Given the description of an element on the screen output the (x, y) to click on. 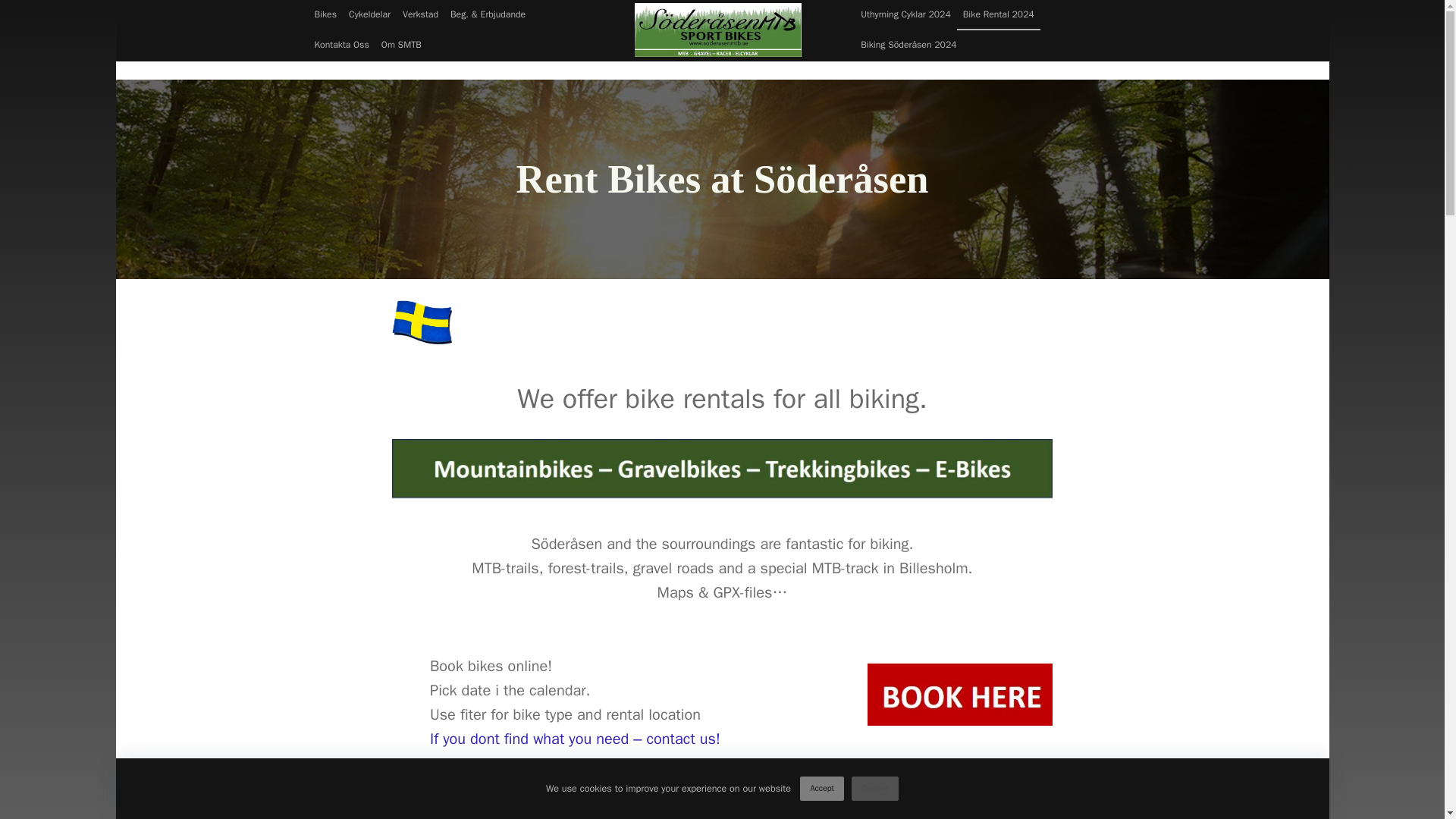
Bikes (324, 15)
Cykeldelar (369, 15)
Uthyrning Cyklar 2024 (905, 15)
Kontakta Oss (340, 45)
Verkstad (420, 15)
Om SMTB (401, 45)
Bike Rental 2024 (998, 15)
